Given the description of an element on the screen output the (x, y) to click on. 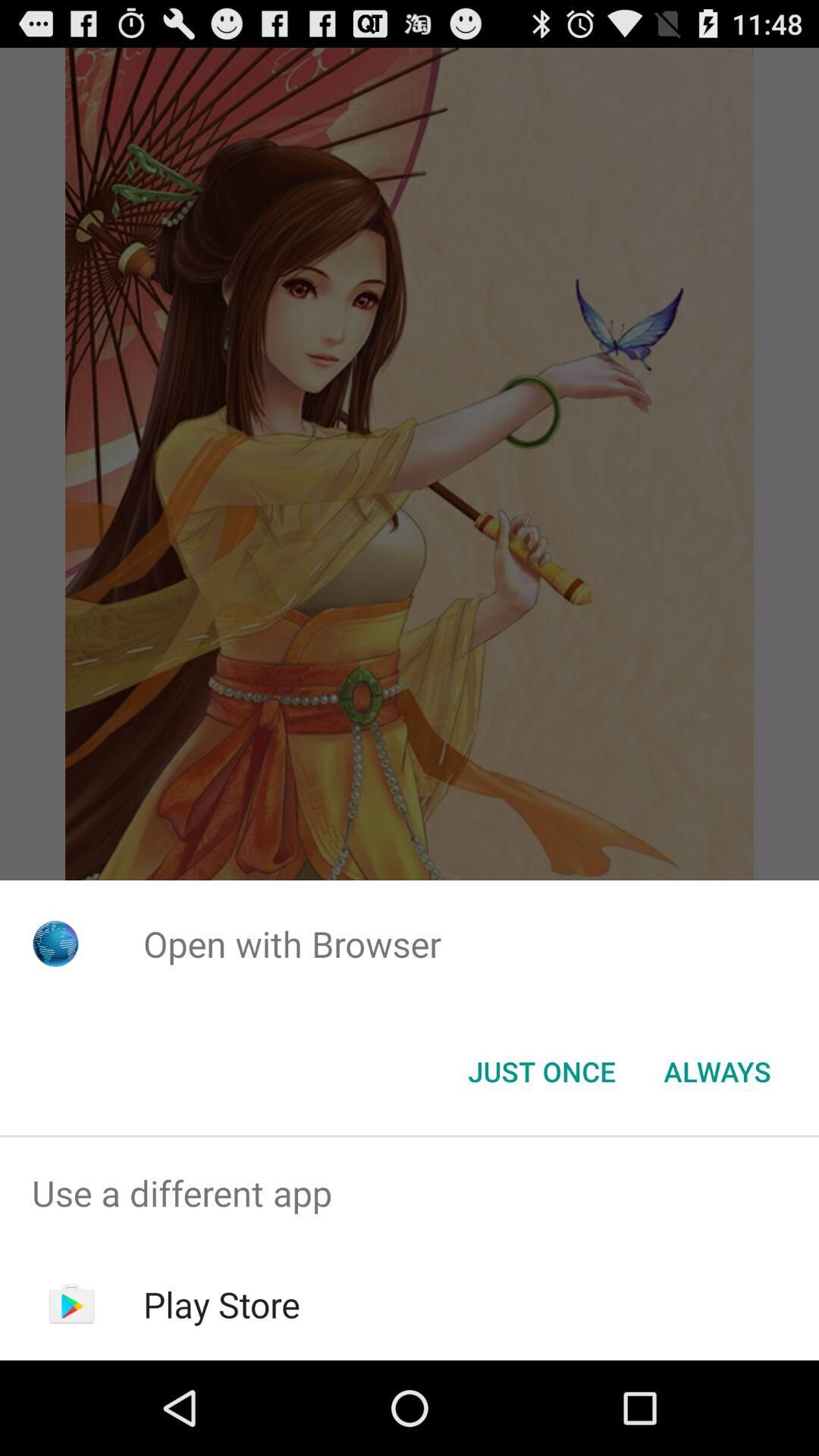
press button to the right of just once button (717, 1071)
